Given the description of an element on the screen output the (x, y) to click on. 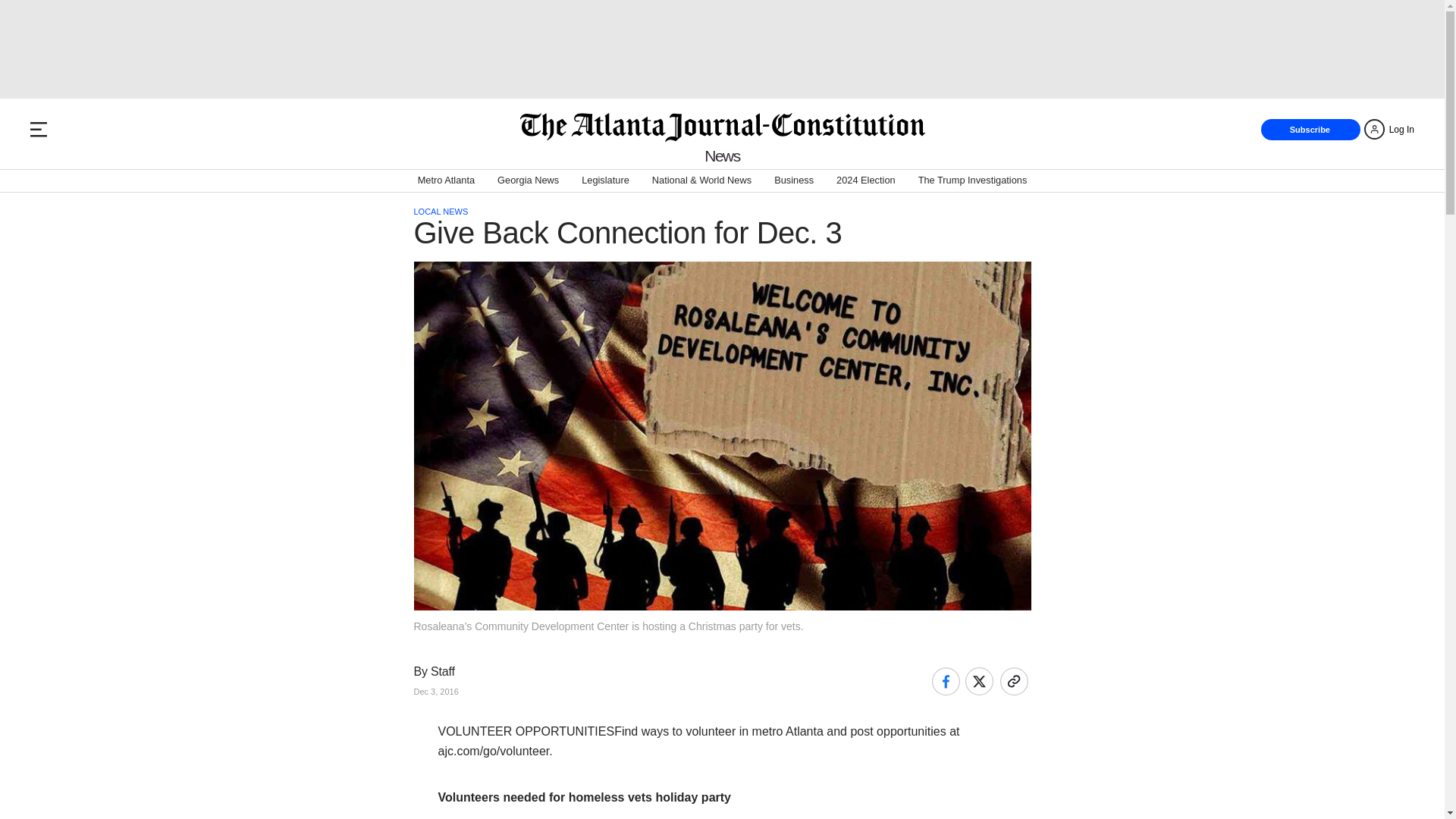
2024 Election (865, 180)
News (721, 155)
Legislature (604, 180)
The Trump Investigations (972, 180)
Georgia News (528, 180)
Metro Atlanta (445, 180)
Business (793, 180)
3rd party ad content (721, 49)
